Given the description of an element on the screen output the (x, y) to click on. 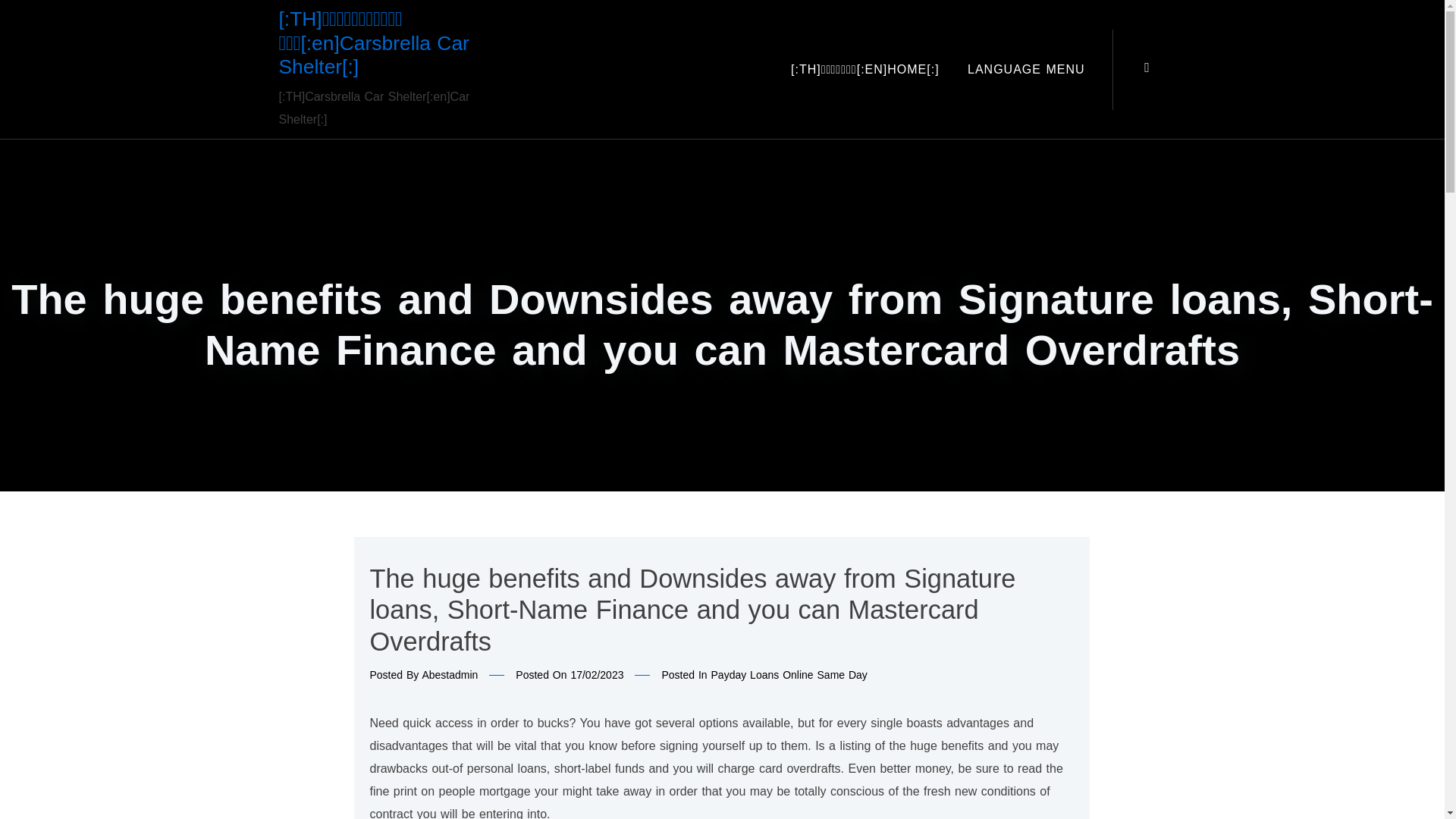
Payday Loans Online Same Day (789, 674)
LANGUAGE MENU (1025, 69)
Abestadmin (449, 674)
